Given the description of an element on the screen output the (x, y) to click on. 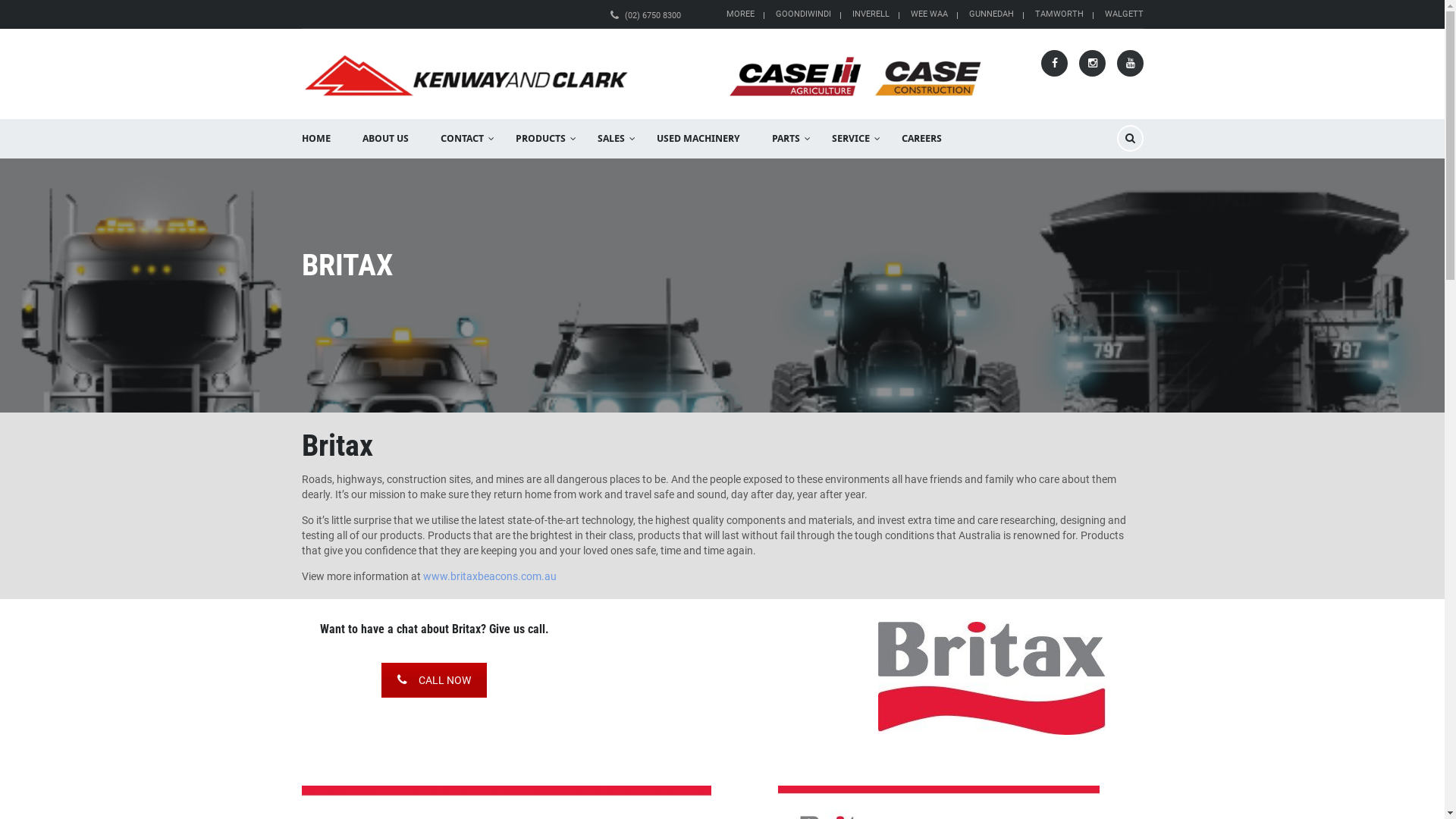
PRODUCTS Element type: text (539, 138)
CALL NOW Element type: text (433, 679)
ABOUT US Element type: text (384, 138)
MOREE Element type: text (740, 13)
(02) 6750 8300 Element type: text (652, 15)
www.britaxbeacons.com.au Element type: text (489, 576)
INVERELL Element type: text (870, 13)
GOONDIWINDI Element type: text (802, 13)
TAMWORTH Element type: text (1058, 13)
CAREERS Element type: text (921, 138)
WALGETT Element type: text (1123, 13)
CONTACT Element type: text (461, 138)
SALES Element type: text (610, 138)
SERVICE Element type: text (850, 138)
Home Element type: hover (642, 75)
WEE WAA Element type: text (928, 13)
HOME Element type: text (315, 138)
USED MACHINERY Element type: text (697, 138)
PARTS Element type: text (785, 138)
GUNNEDAH Element type: text (991, 13)
